Given the description of an element on the screen output the (x, y) to click on. 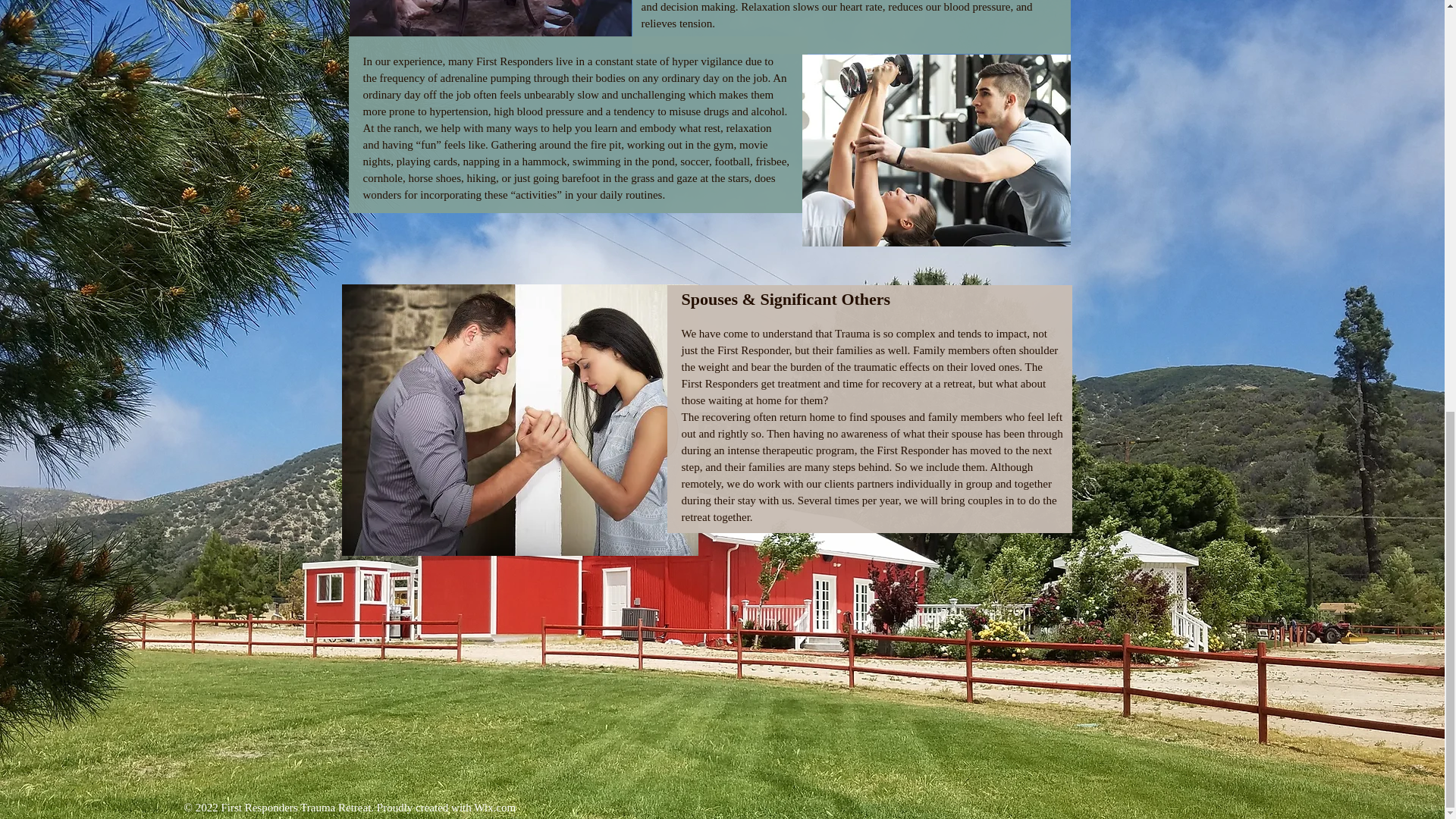
Wix.com (494, 807)
